Given the description of an element on the screen output the (x, y) to click on. 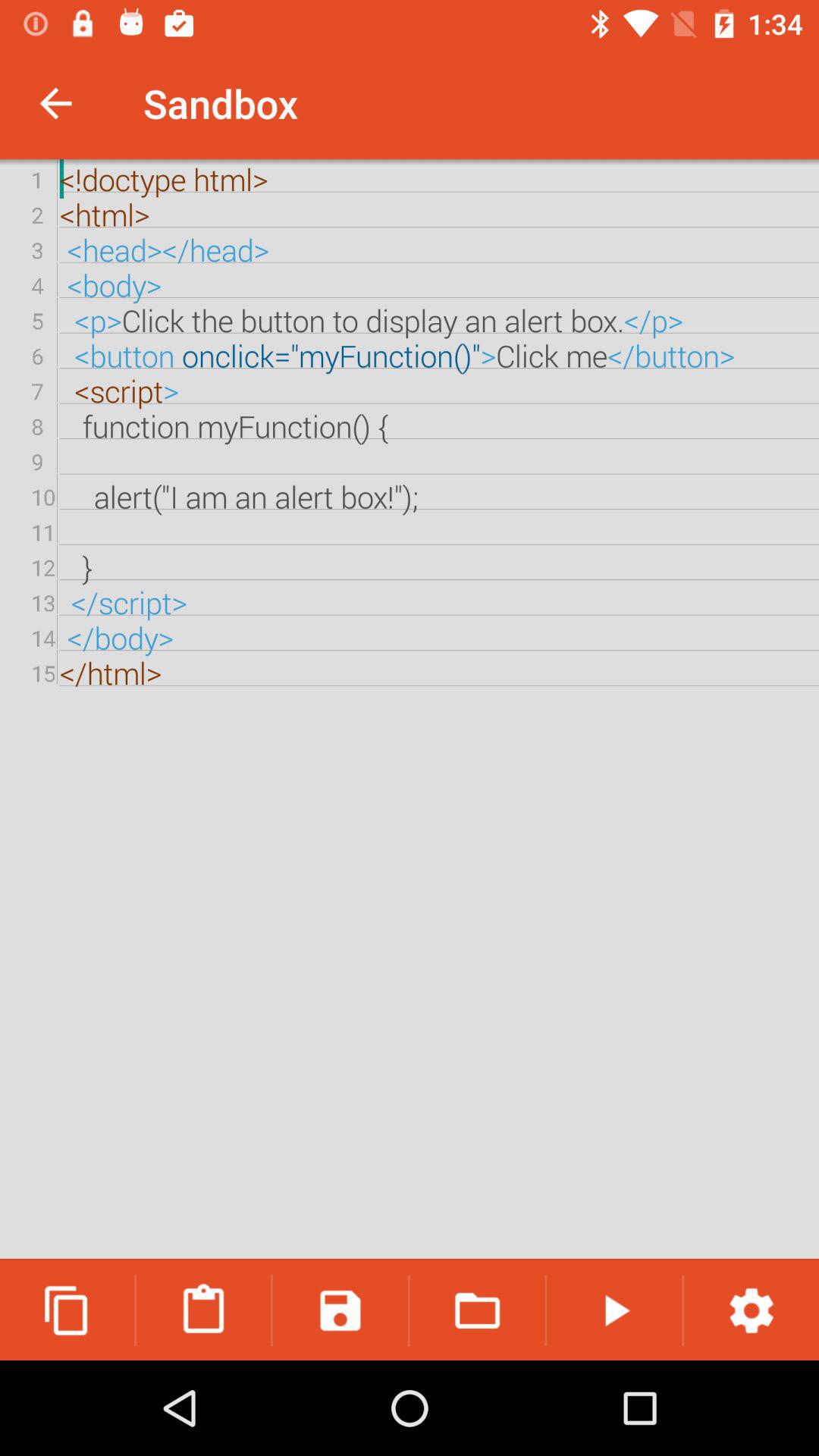
turn on the item below the doctype html html item (67, 1310)
